Given the description of an element on the screen output the (x, y) to click on. 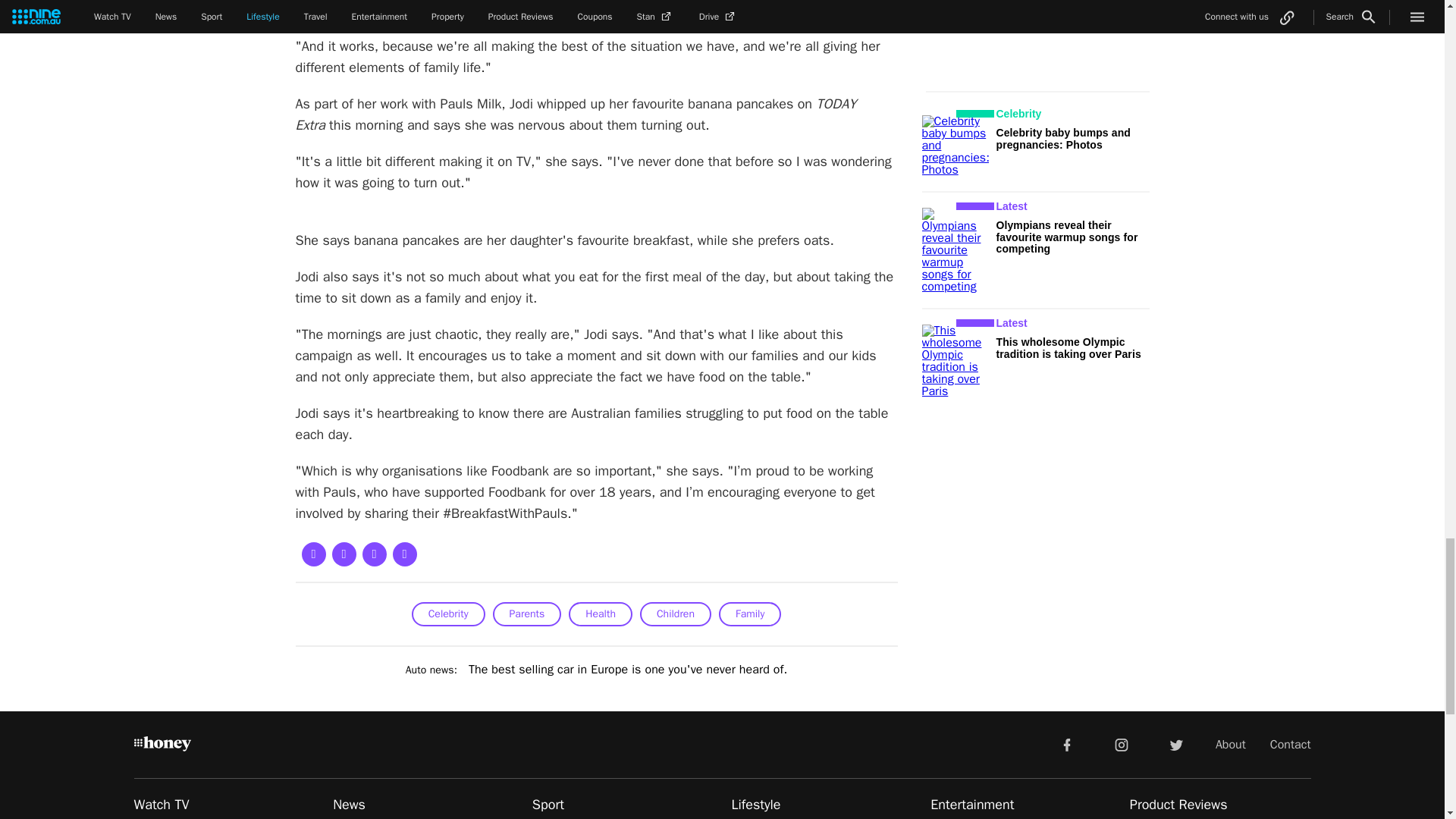
Children (675, 613)
Family (749, 613)
twitter (1175, 743)
facebook (1066, 743)
Celebrity (448, 613)
Health (600, 613)
Parents (527, 613)
instagram (1121, 743)
